Given the description of an element on the screen output the (x, y) to click on. 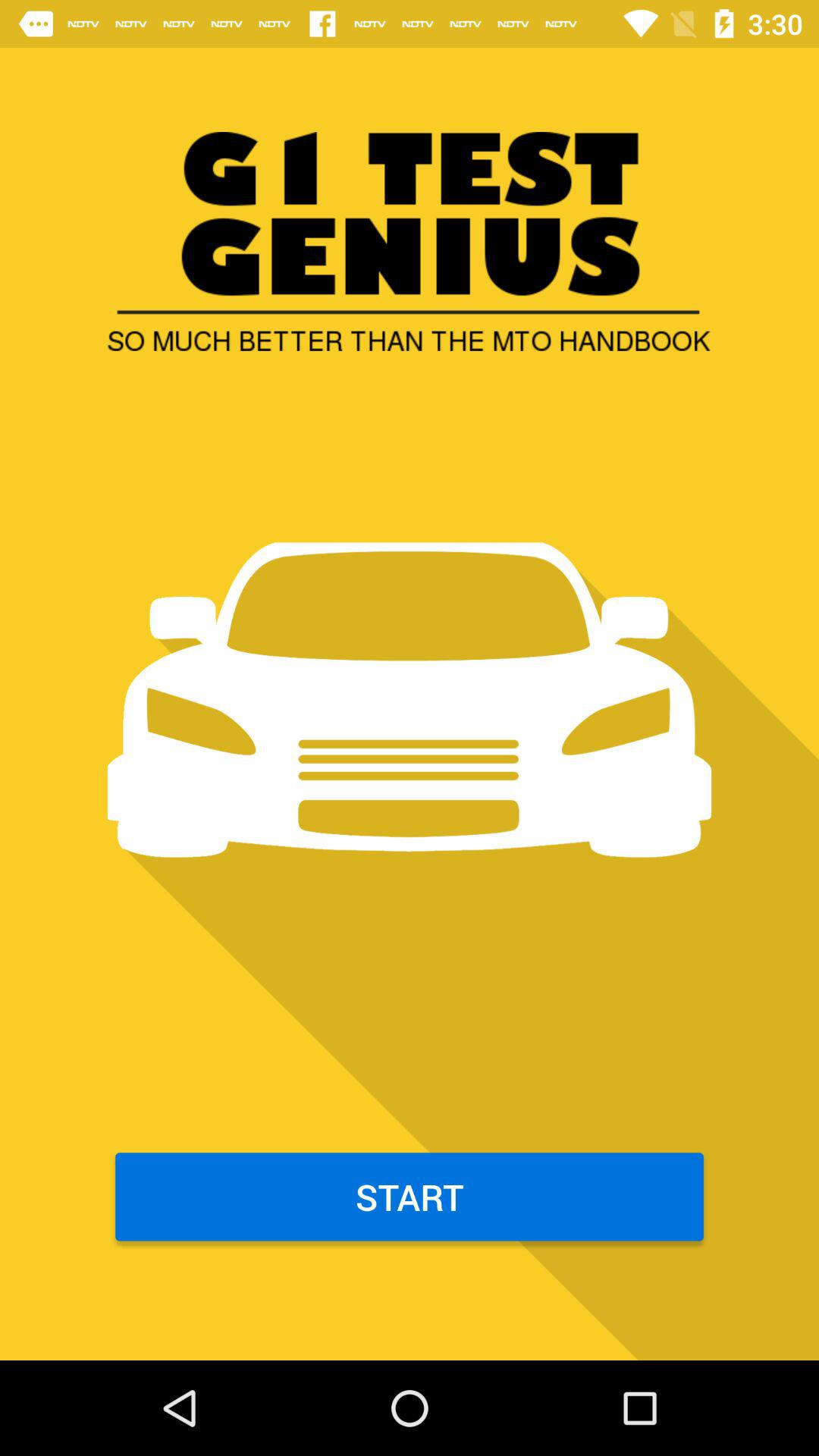
scroll to the start item (409, 1196)
